Given the description of an element on the screen output the (x, y) to click on. 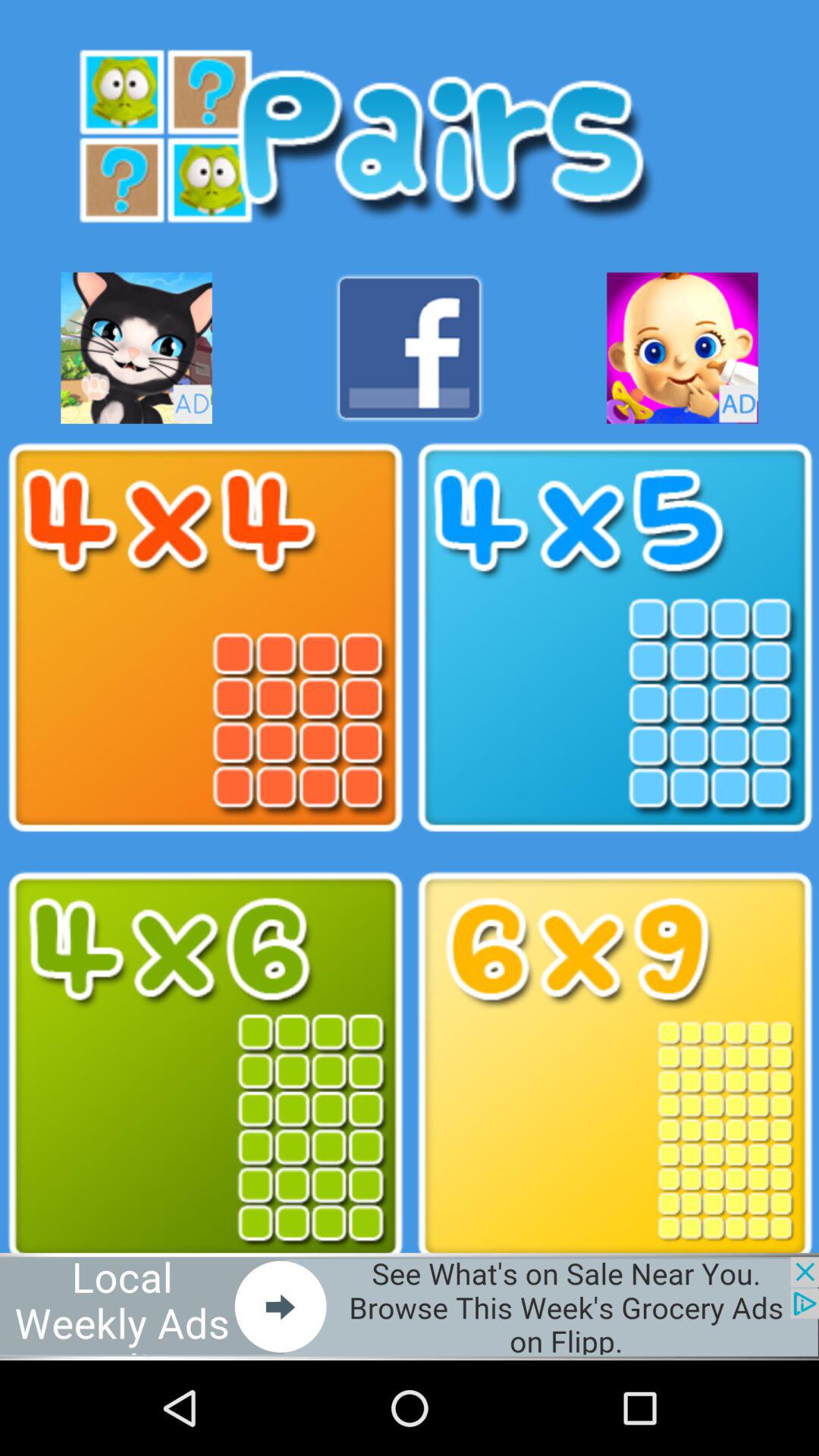
4 x 4 option (204, 637)
